Given the description of an element on the screen output the (x, y) to click on. 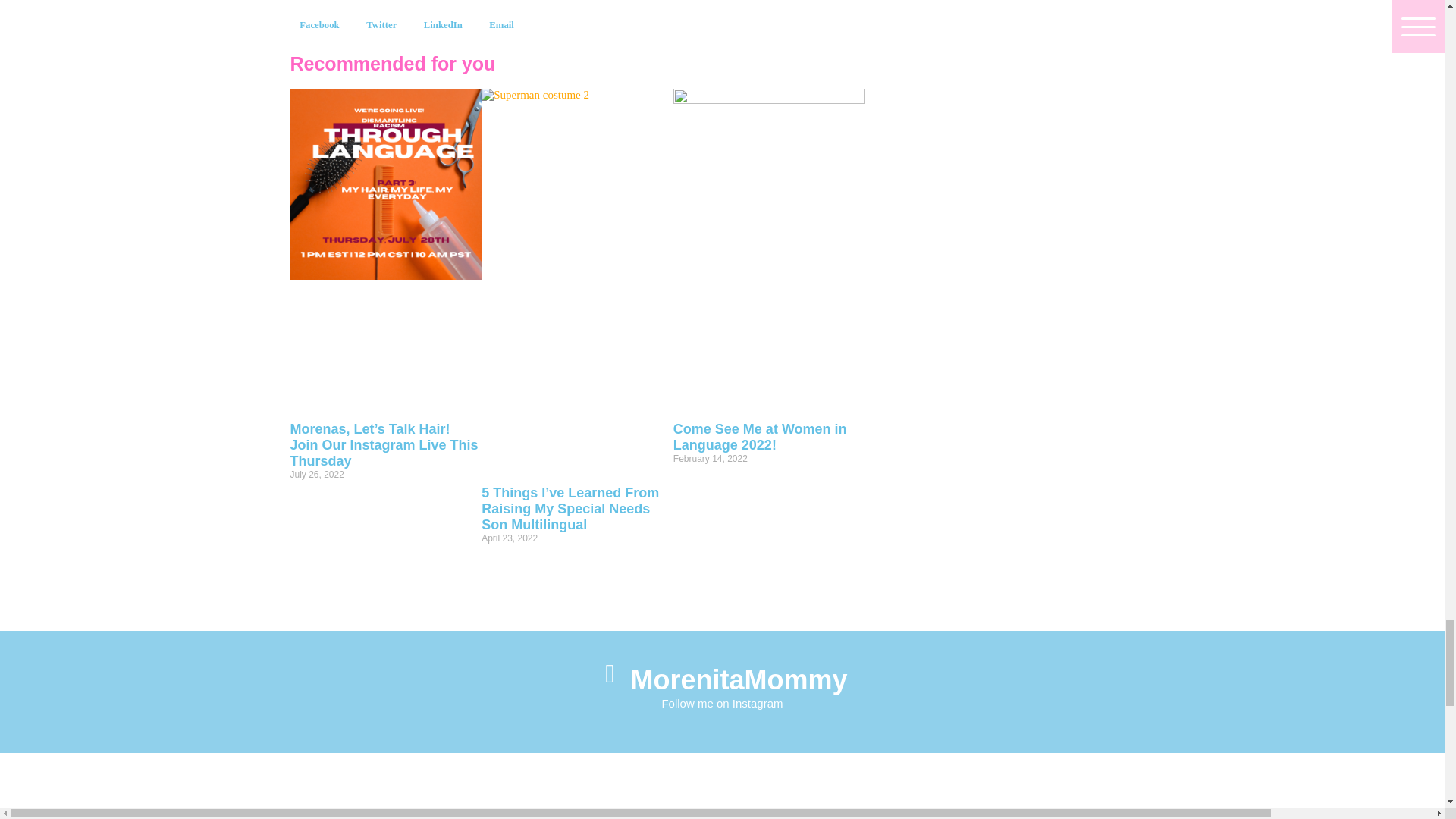
Come See Me at Women in Language 2022! (759, 436)
